Given the description of an element on the screen output the (x, y) to click on. 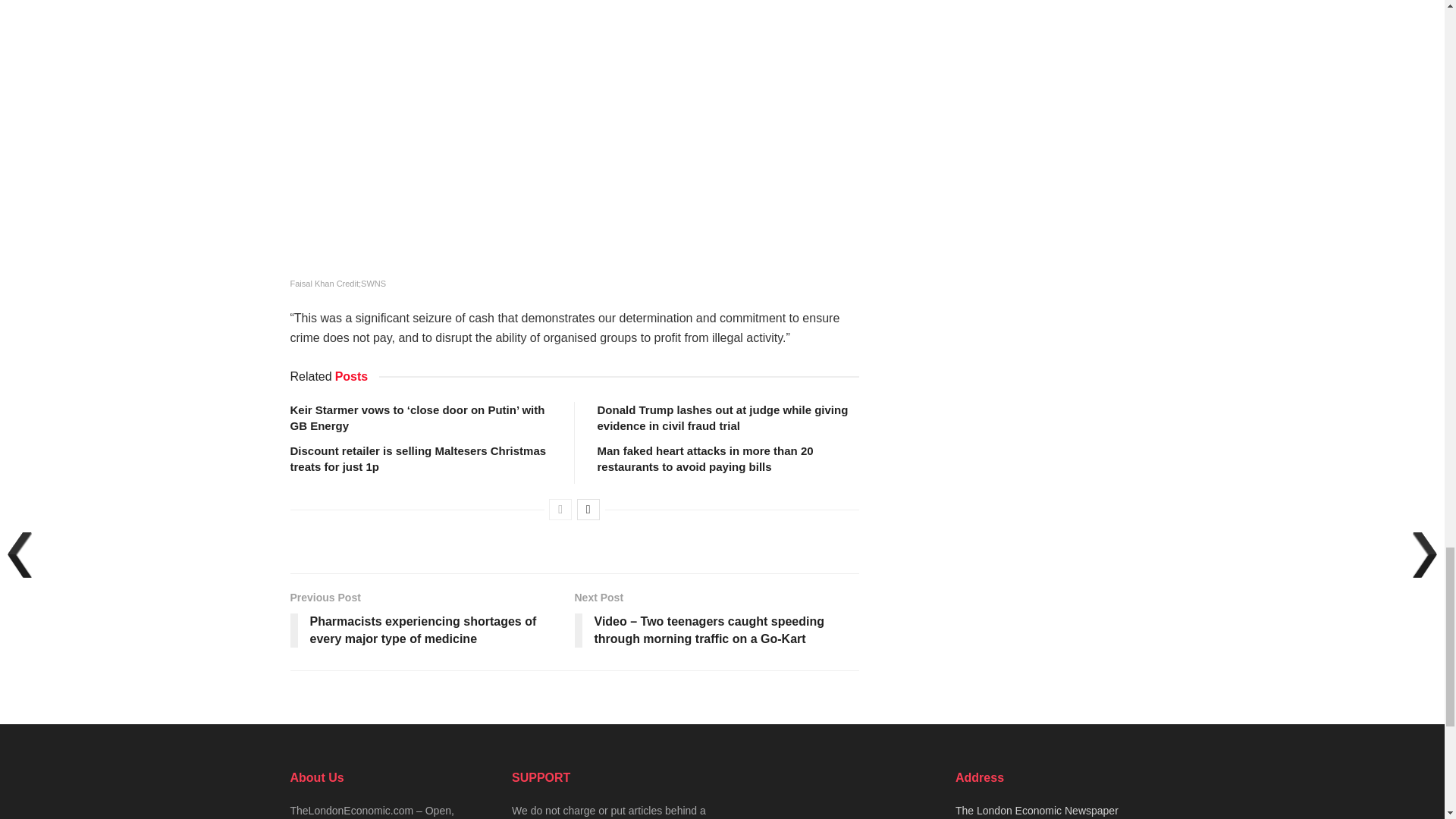
Next (587, 509)
Previous (560, 509)
